Given the description of an element on the screen output the (x, y) to click on. 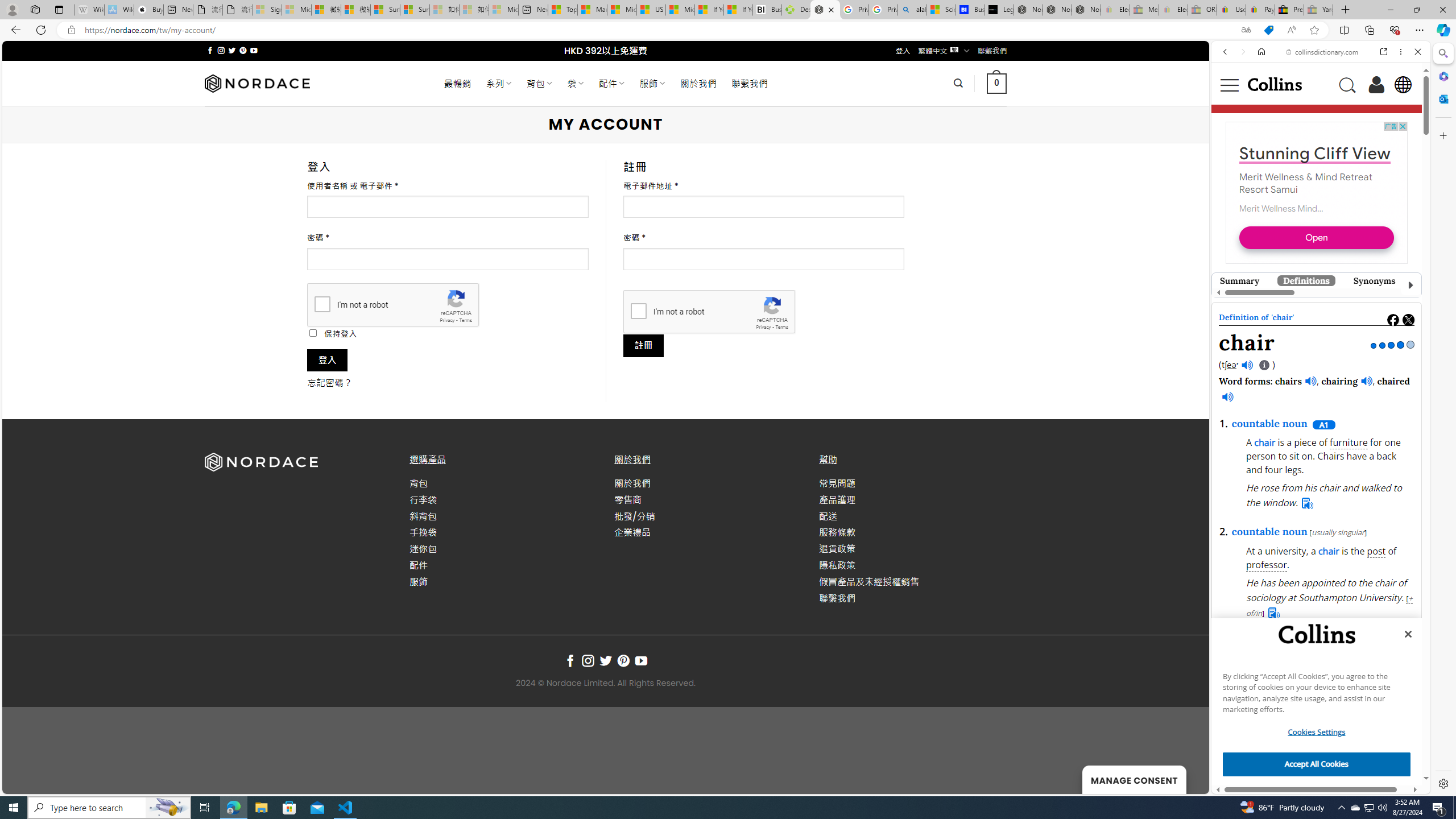
B2 (1269, 781)
What does a chair mean? (1304, 656)
Yard, Garden & Outdoor Living - Sleeping (1318, 9)
Share this page on Twitter (1407, 319)
Definitions (1305, 280)
